Given the description of an element on the screen output the (x, y) to click on. 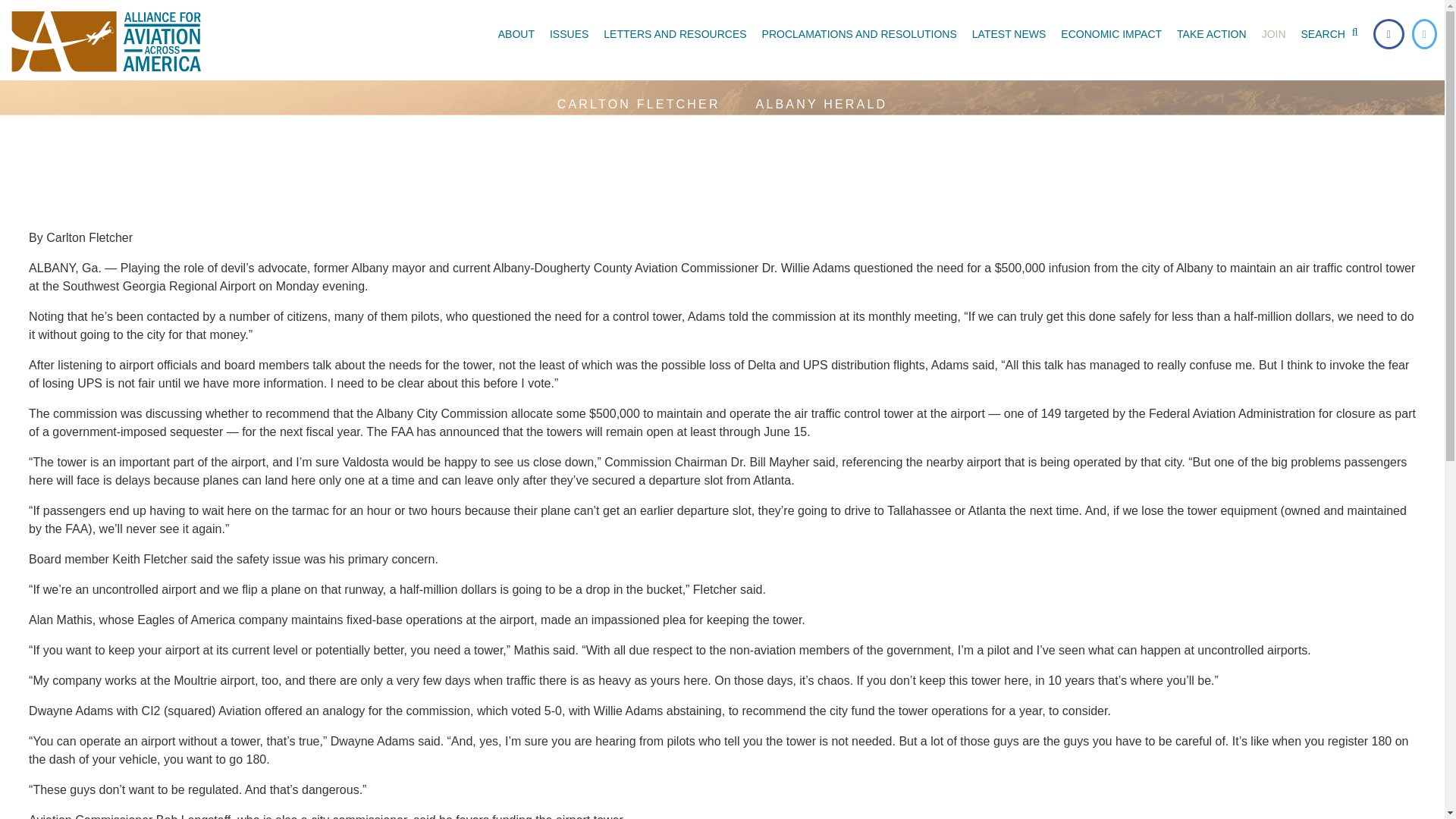
ABOUT (515, 33)
LETTERS AND RESOURCES (674, 33)
LATEST NEWS (1008, 33)
TAKE ACTION (1211, 33)
ISSUES (568, 33)
ECONOMIC IMPACT (1110, 33)
JOIN (1273, 33)
SEARCH (1333, 33)
PROCLAMATIONS AND RESOLUTIONS (858, 33)
